Given the description of an element on the screen output the (x, y) to click on. 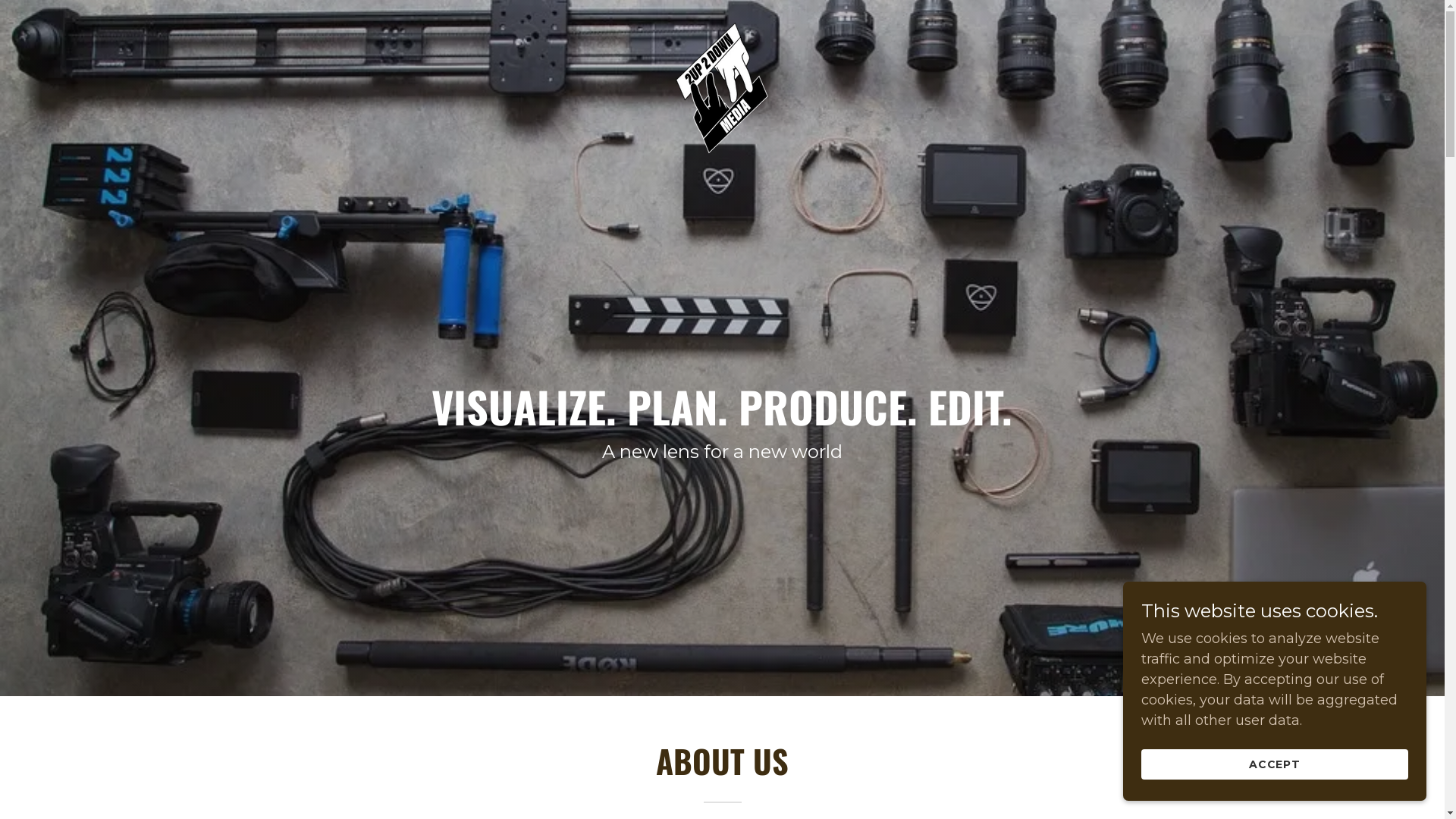
ACCEPT Element type: text (1274, 764)
2UP 2DOWN MEDIA Element type: hover (721, 24)
